Given the description of an element on the screen output the (x, y) to click on. 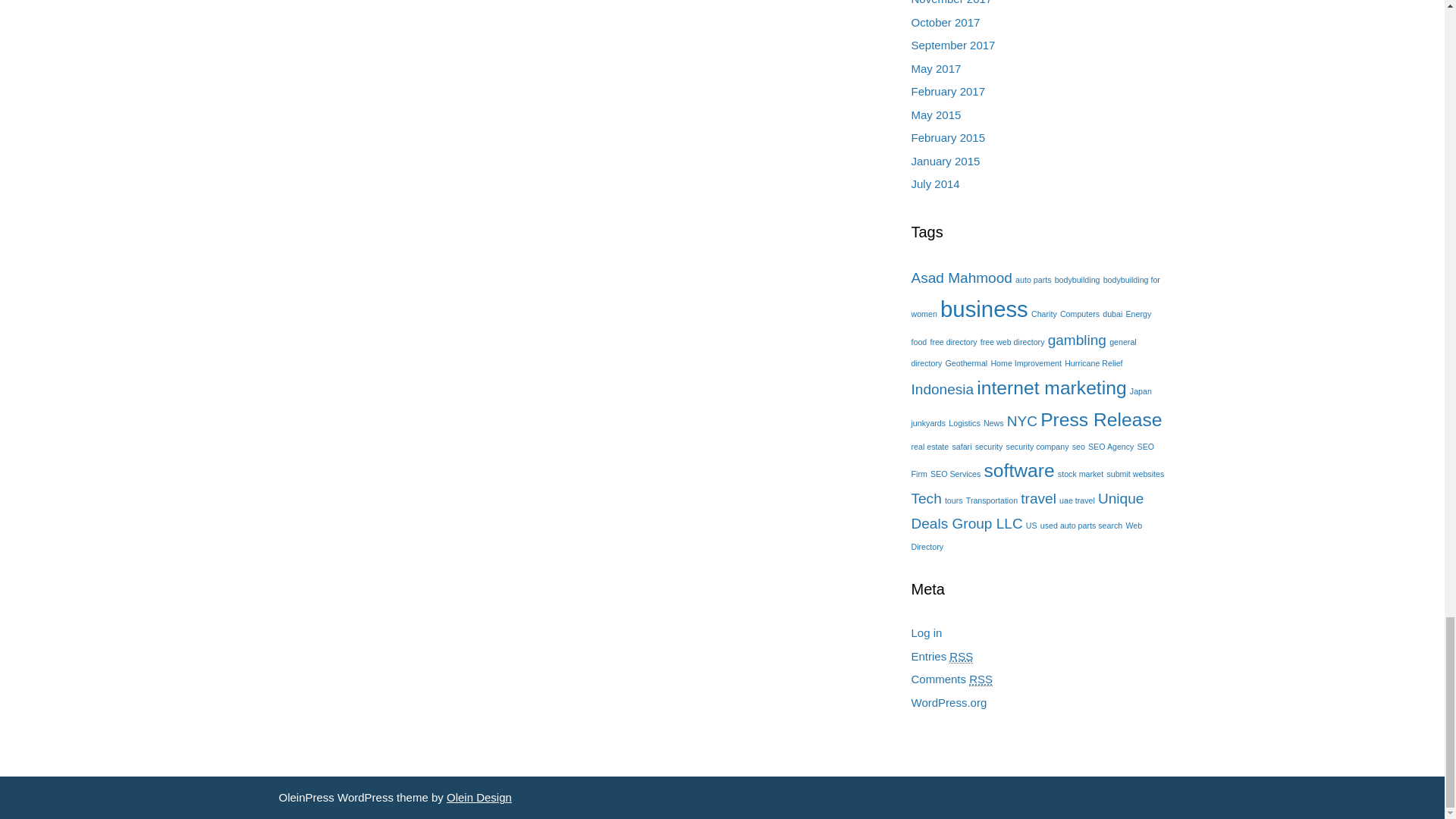
Really Simple Syndication (960, 656)
Really Simple Syndication (980, 679)
